Given the description of an element on the screen output the (x, y) to click on. 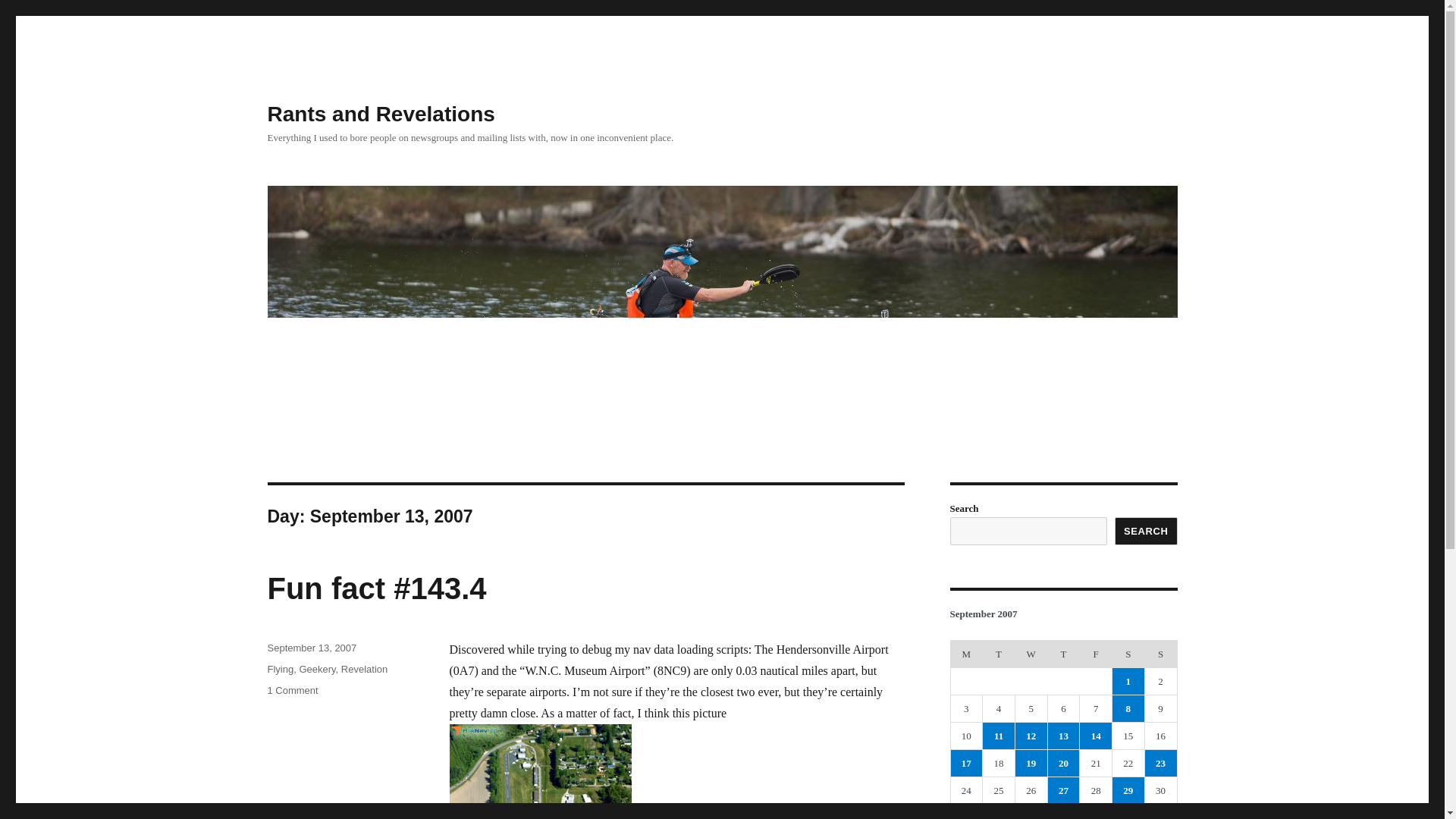
Friday (1096, 653)
Monday (966, 653)
Revelation (363, 668)
Flying (280, 668)
8 (1128, 708)
14 (1096, 735)
20 (1064, 763)
Rants and Revelations (380, 114)
Thursday (1063, 653)
Tuesday (998, 653)
